Given the description of an element on the screen output the (x, y) to click on. 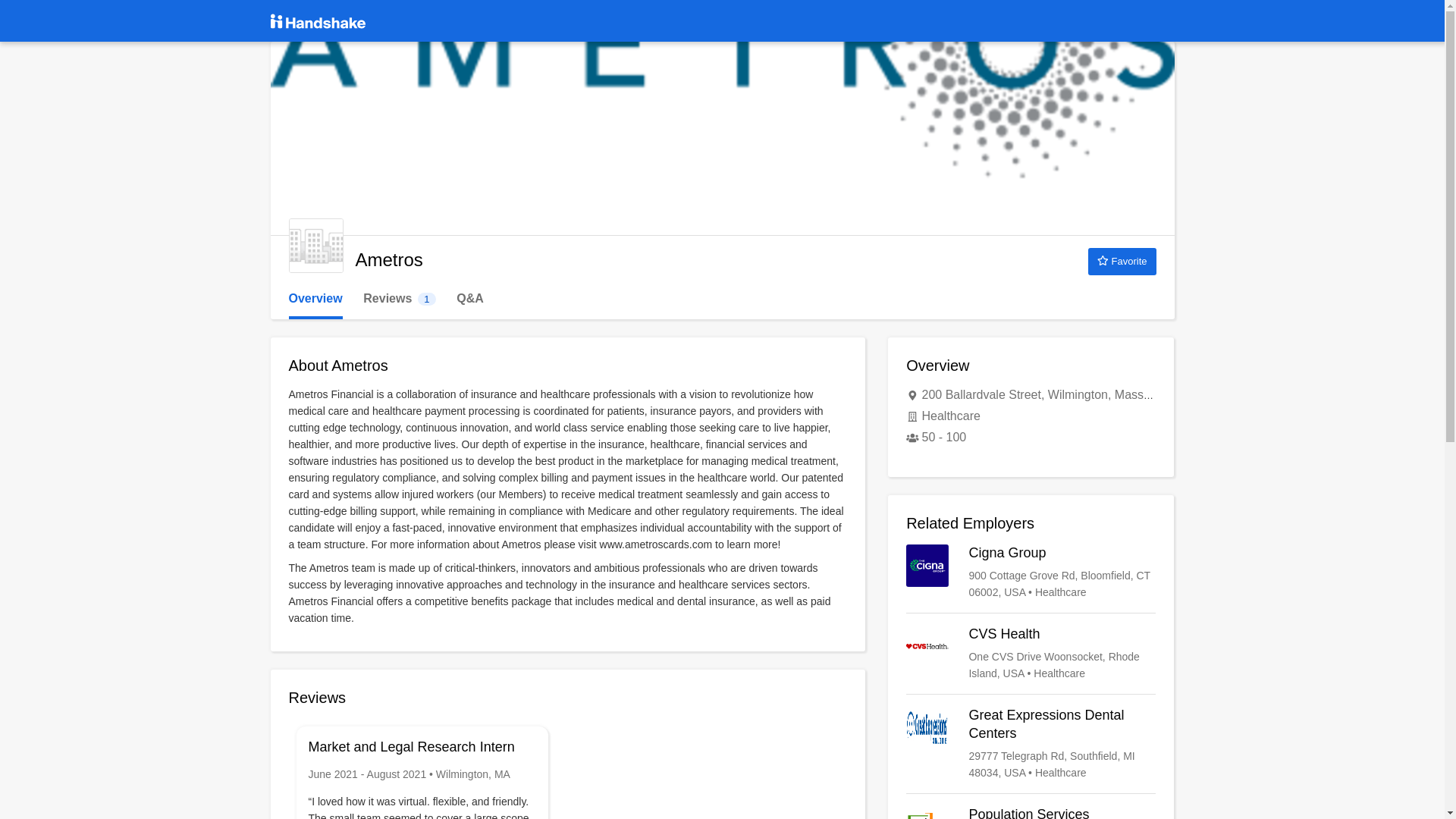
CVS Health (1030, 653)
Cigna Group (1030, 572)
Population Services International (1030, 812)
Great Expressions Dental Centers (398, 298)
Ametros (1030, 743)
Favorite (315, 245)
Overview (1121, 261)
